Given the description of an element on the screen output the (x, y) to click on. 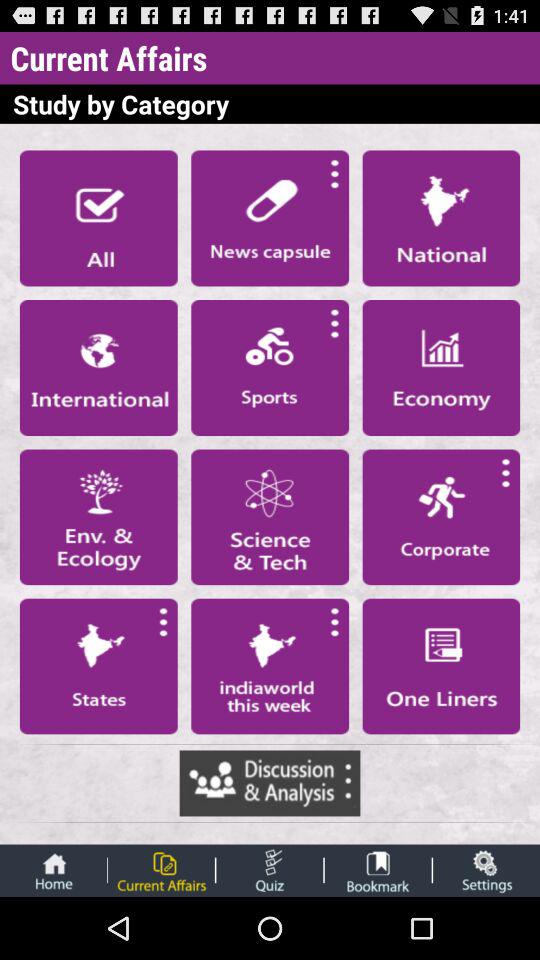
open science and tech app (270, 517)
